Given the description of an element on the screen output the (x, y) to click on. 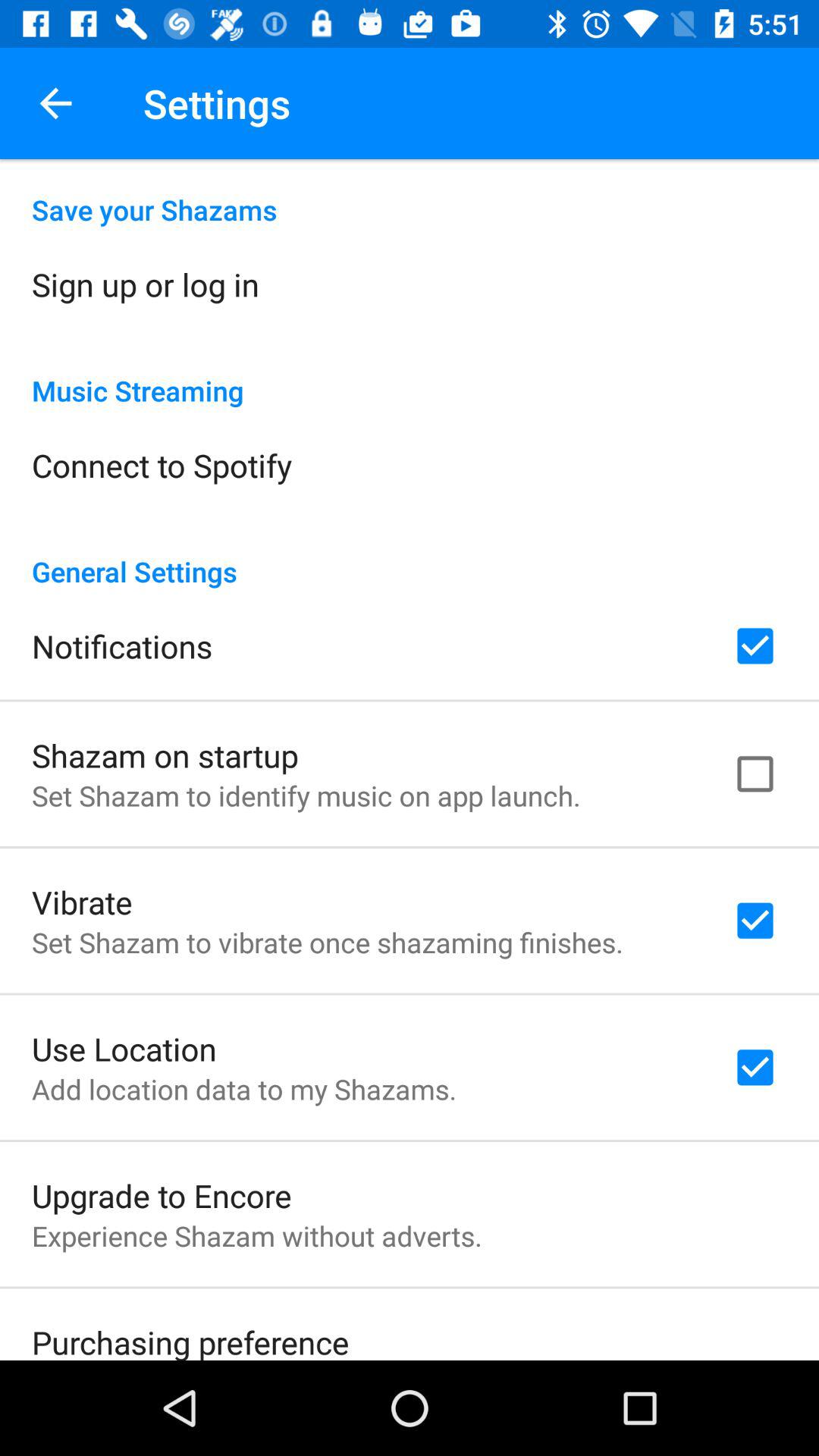
select notification option (755, 645)
